Given the description of an element on the screen output the (x, y) to click on. 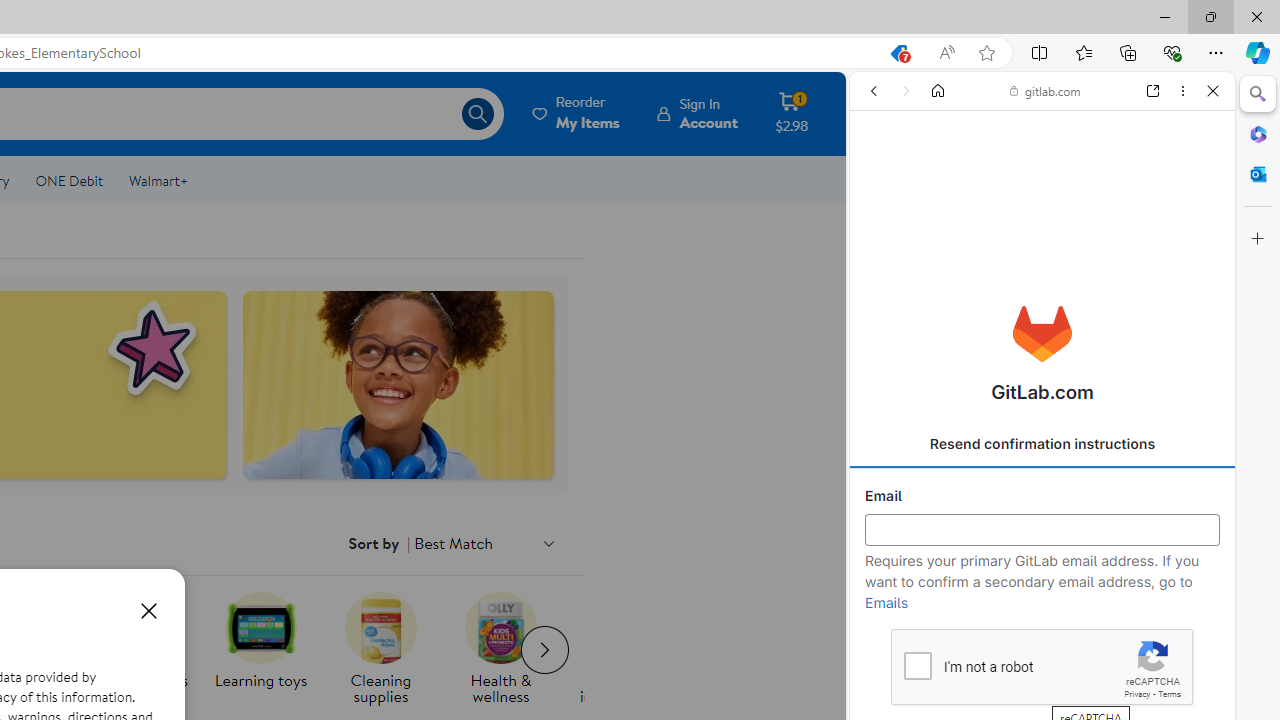
I'm not a robot (916, 664)
Close dialog (148, 610)
Web scope (882, 180)
Search Filter, ALL (881, 228)
Resend confirmation instructions (1042, 443)
Register Now (1042, 445)
This site scope (936, 180)
Register Now (1042, 445)
